Given the description of an element on the screen output the (x, y) to click on. 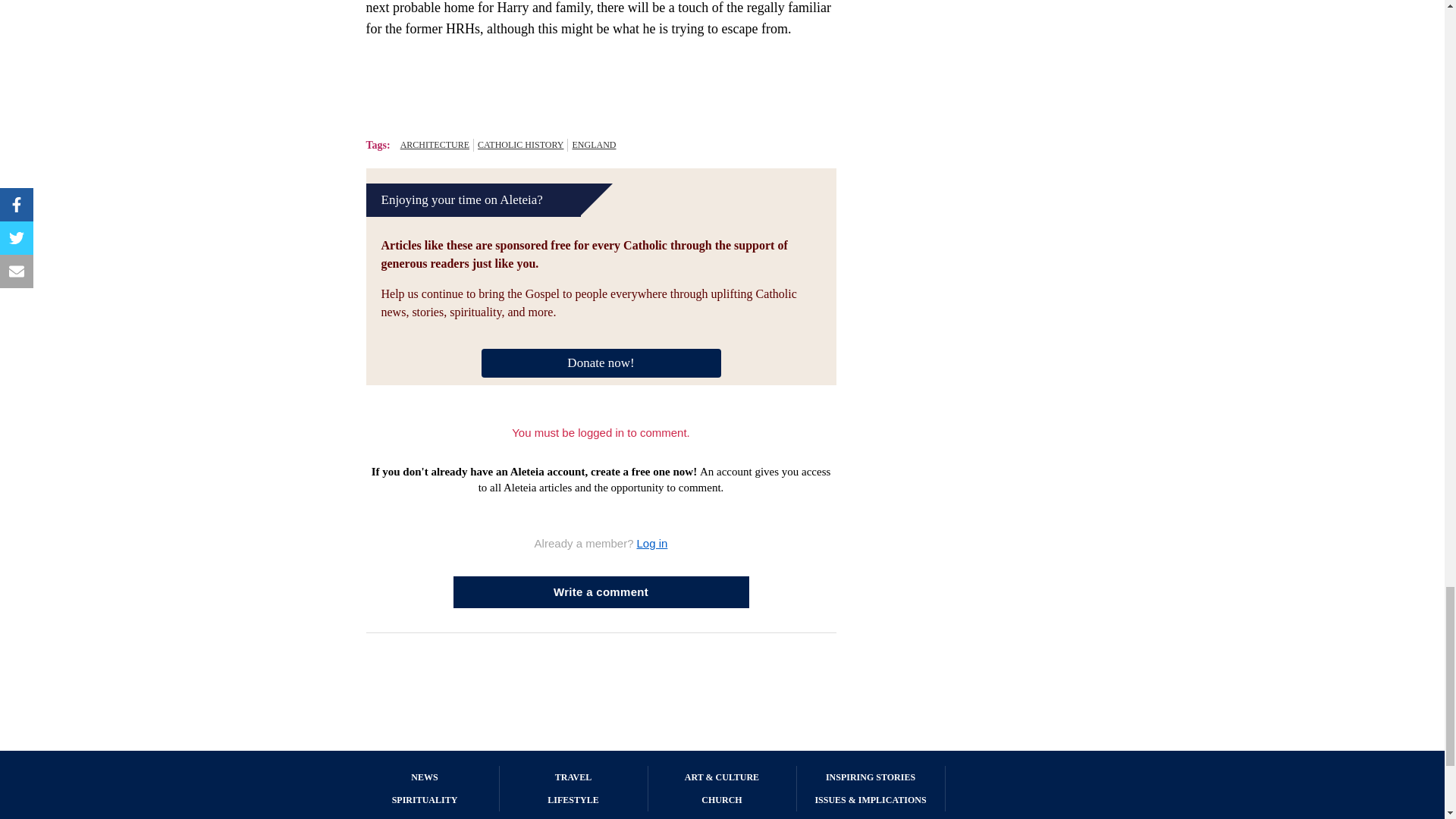
ARCHITECTURE (435, 144)
